Given the description of an element on the screen output the (x, y) to click on. 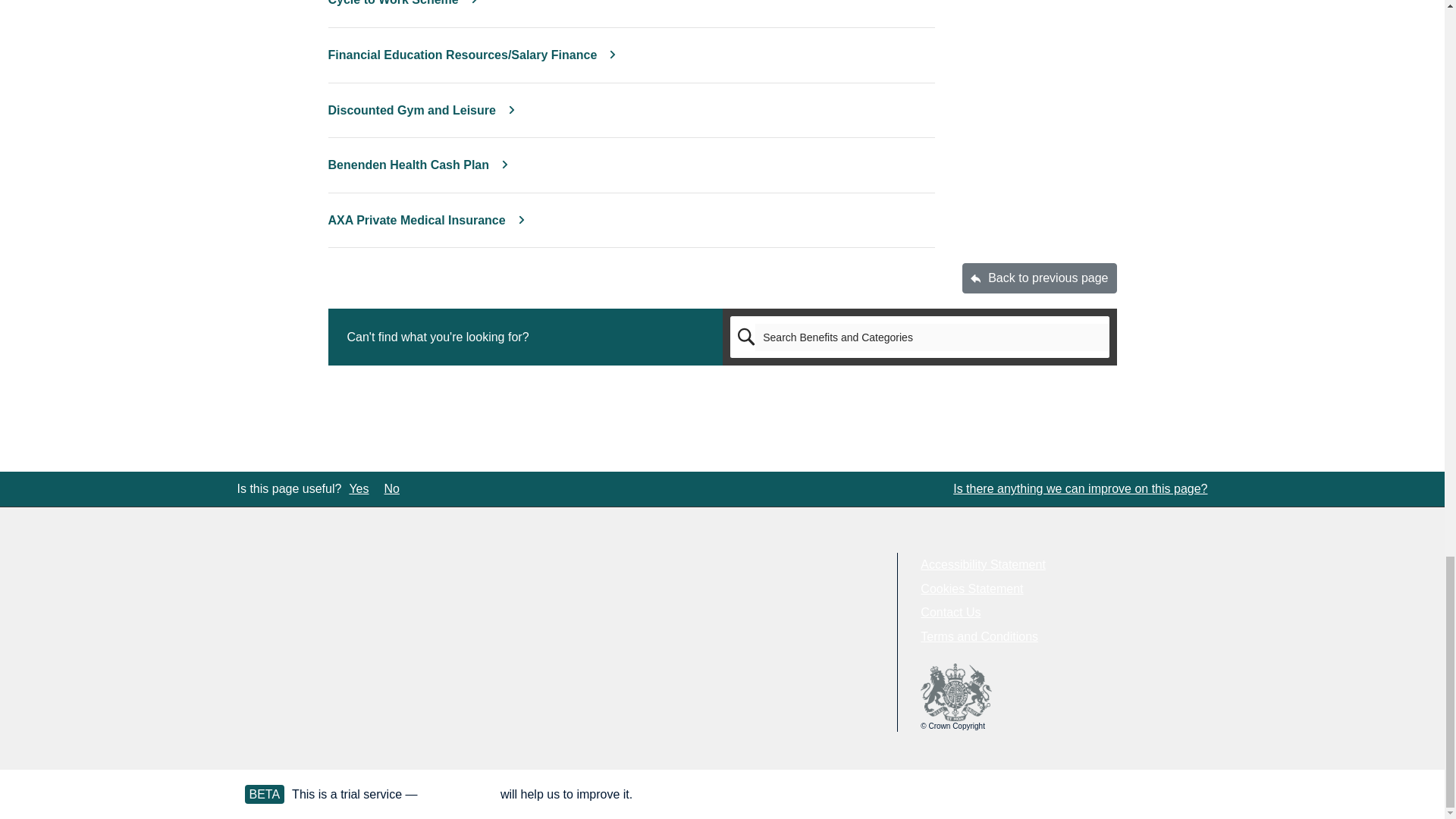
Contact Us (949, 612)
your feedback (458, 793)
Cycle to Work Scheme (403, 2)
Back to previous page (1039, 277)
Benenden Health Cash Plan (419, 164)
Terms and Conditions (979, 635)
Accessibility Statement (982, 563)
Yes (357, 488)
Cookies Statement (971, 588)
AXA Private Medical Insurance (427, 219)
